Given the description of an element on the screen output the (x, y) to click on. 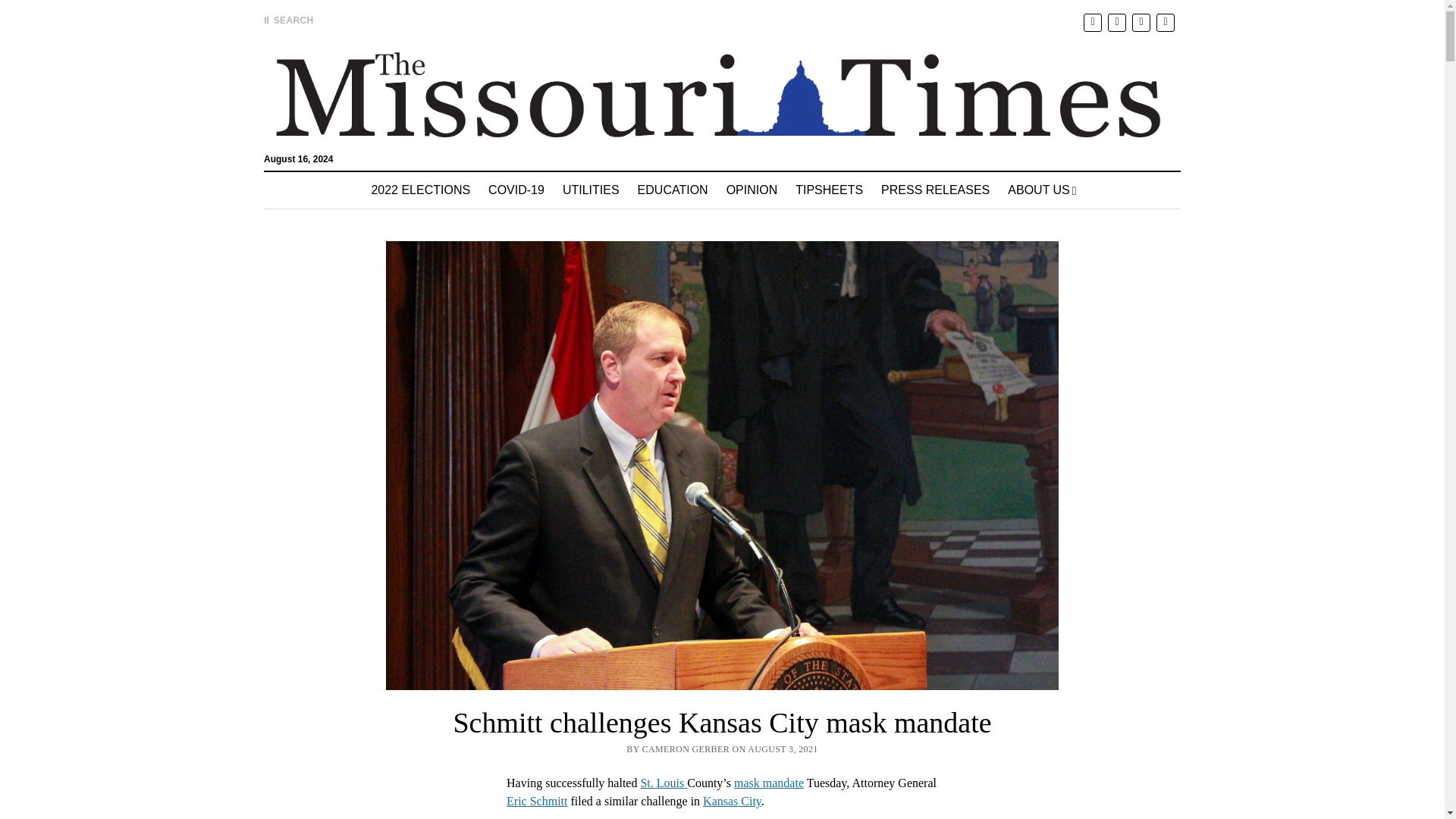
Kansas City (732, 800)
Search (945, 129)
PRESS RELEASES (935, 189)
EDUCATION (672, 189)
Eric Schmitt (536, 800)
2022 ELECTIONS (420, 189)
SEARCH (288, 20)
St. Louis (663, 782)
OPINION (752, 189)
UTILITIES (590, 189)
